Given the description of an element on the screen output the (x, y) to click on. 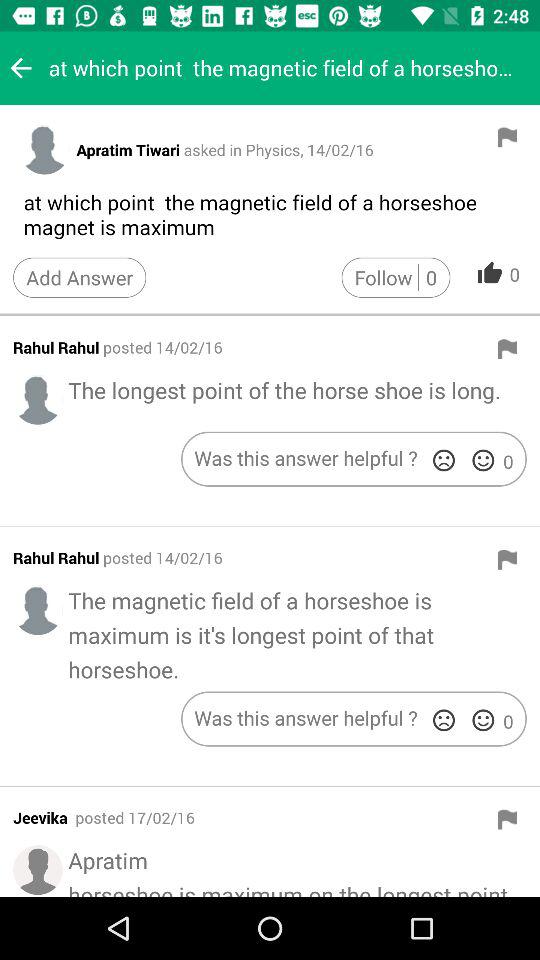
sad face icon (443, 460)
